Given the description of an element on the screen output the (x, y) to click on. 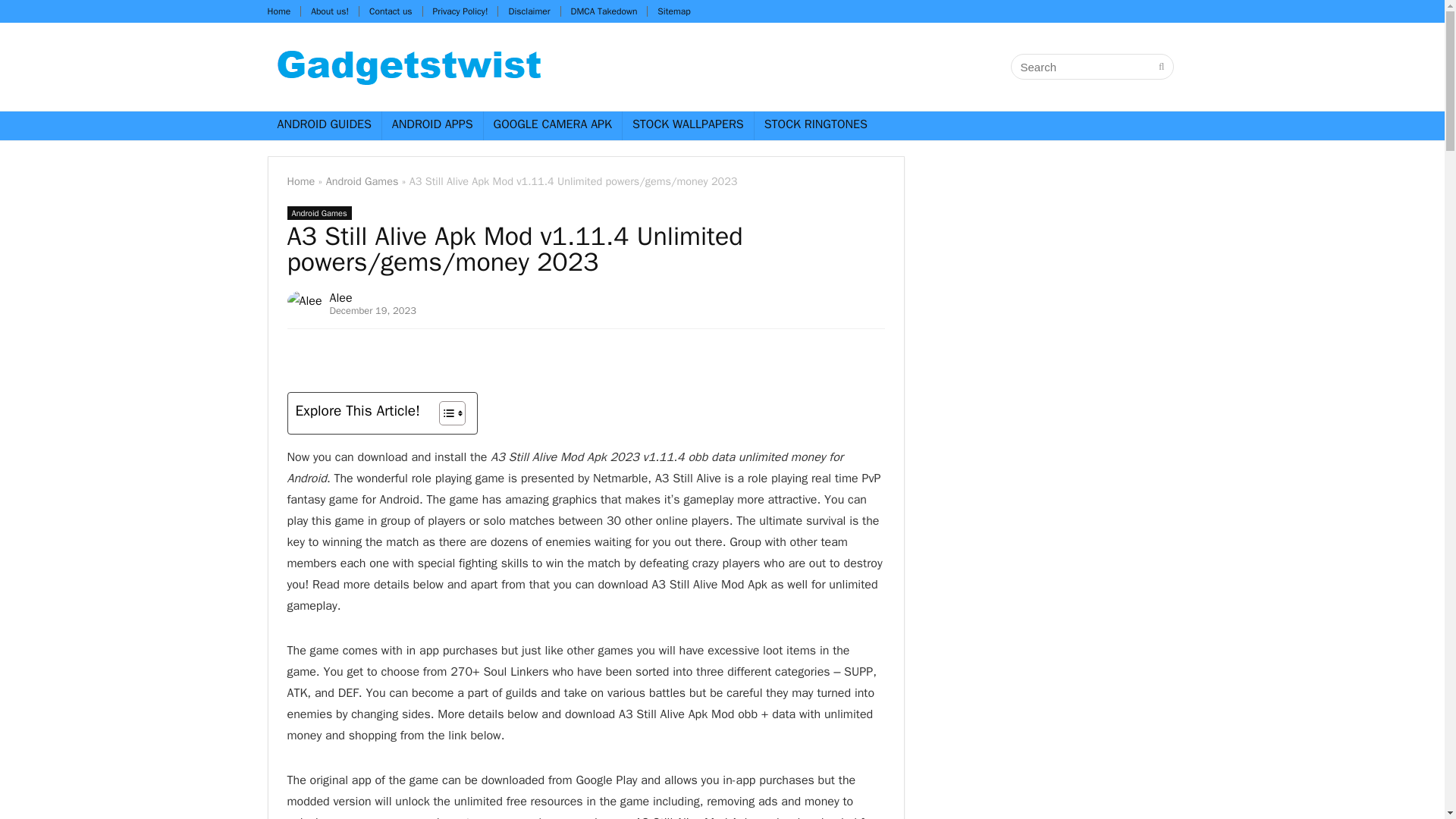
Sitemap (674, 10)
STOCK WALLPAPERS (688, 125)
GOOGLE CAMERA APK (552, 125)
Home (300, 181)
View all posts in Android Games (318, 213)
ANDROID GUIDES (323, 125)
DMCA Takedown (603, 10)
About us! (330, 10)
Privacy Policy! (459, 10)
STOCK RINGTONES (815, 125)
Android Games (318, 213)
Contact us (390, 10)
Disclaimer (529, 10)
ANDROID APPS (432, 125)
Alee (341, 297)
